Given the description of an element on the screen output the (x, y) to click on. 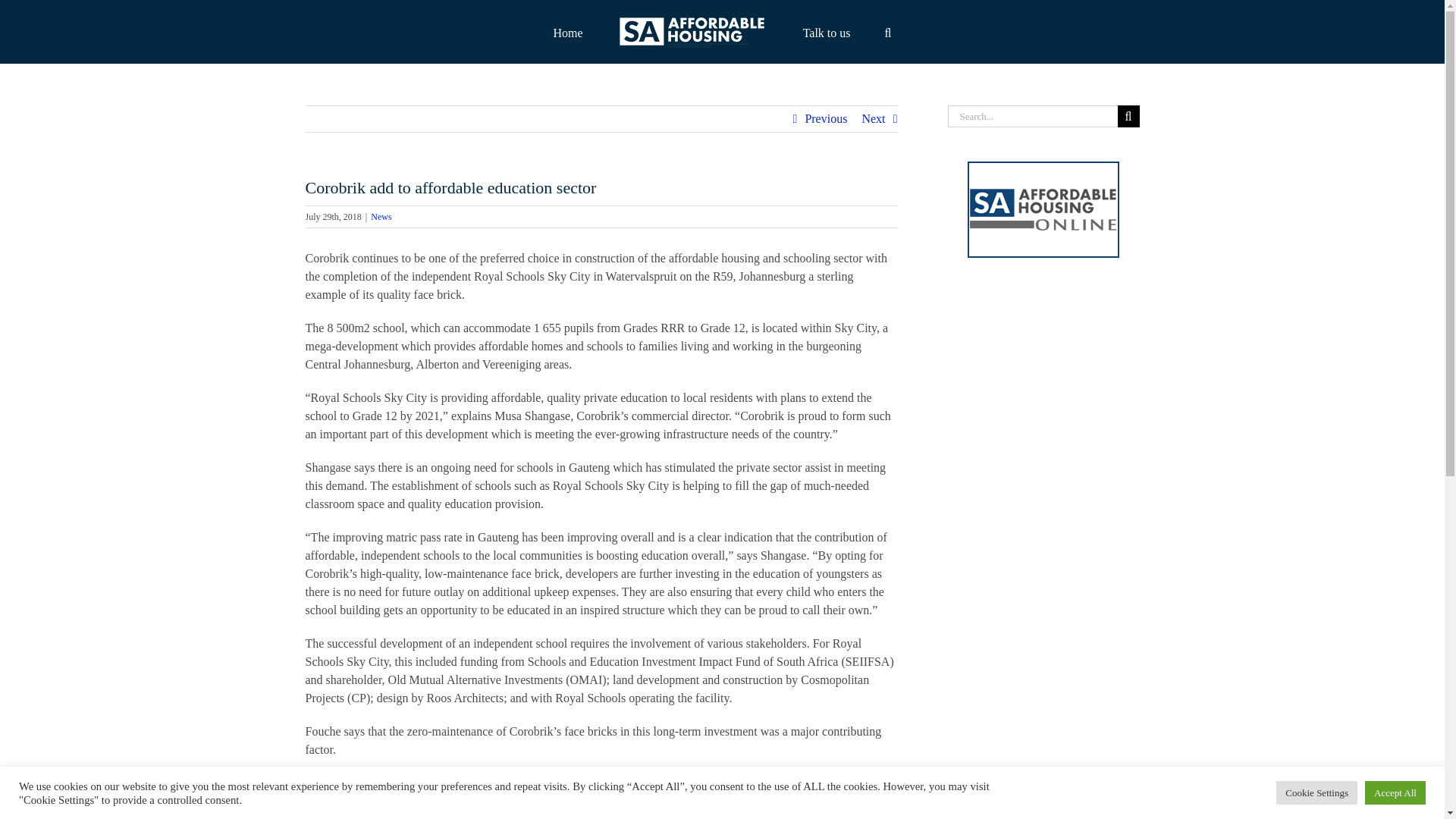
Accept All (1395, 792)
Previous (826, 118)
Next (873, 118)
Cookie Settings (1316, 792)
News (381, 216)
